Given the description of an element on the screen output the (x, y) to click on. 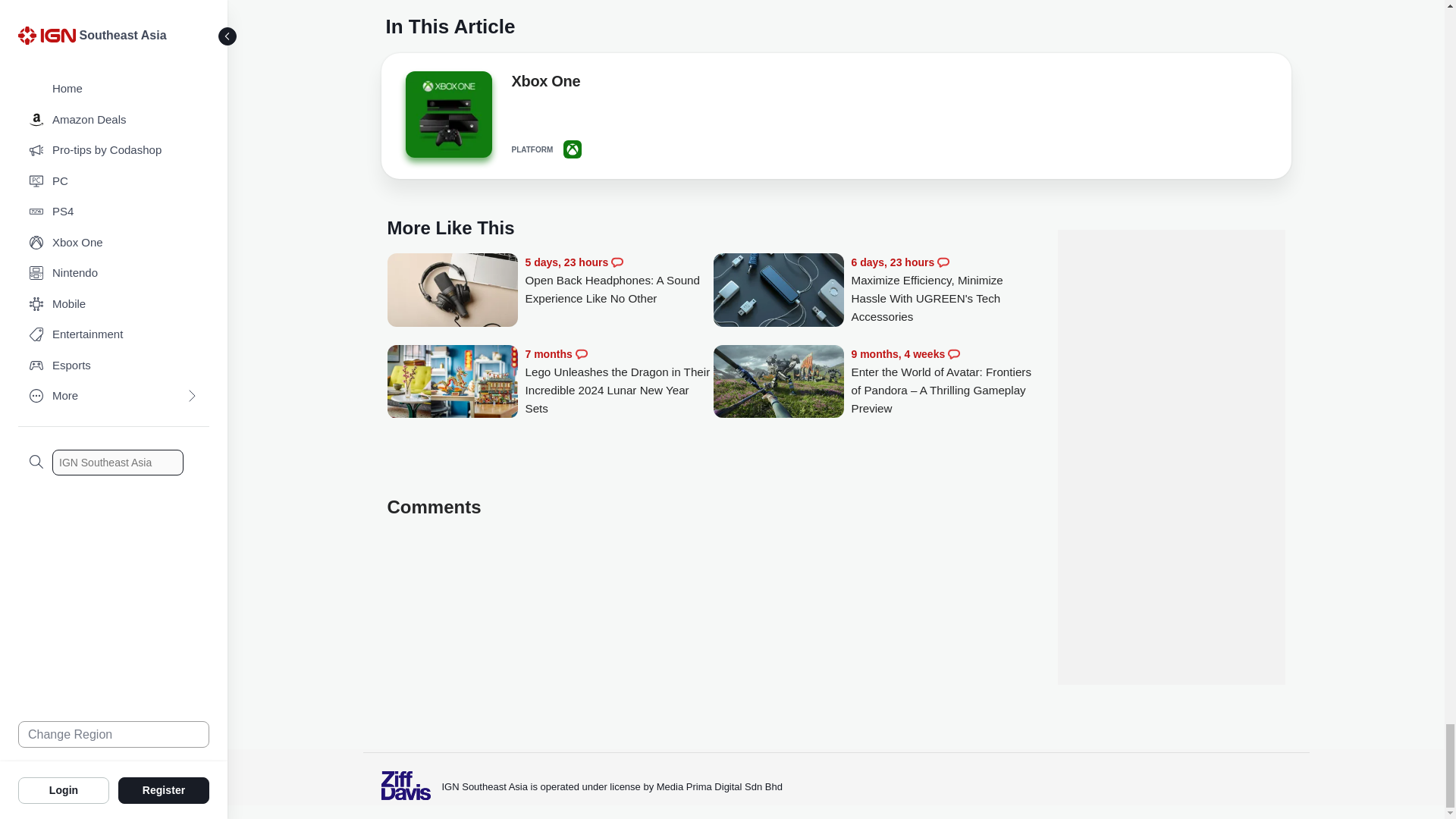
Xbox One (545, 83)
Open Back Headphones: A Sound Experience Like No Other (451, 291)
Open Back Headphones: A Sound Experience Like No Other (618, 280)
Comments (943, 262)
Comments (617, 262)
Xbox One (448, 114)
Xbox One (448, 119)
XBOXONE (571, 149)
